Given the description of an element on the screen output the (x, y) to click on. 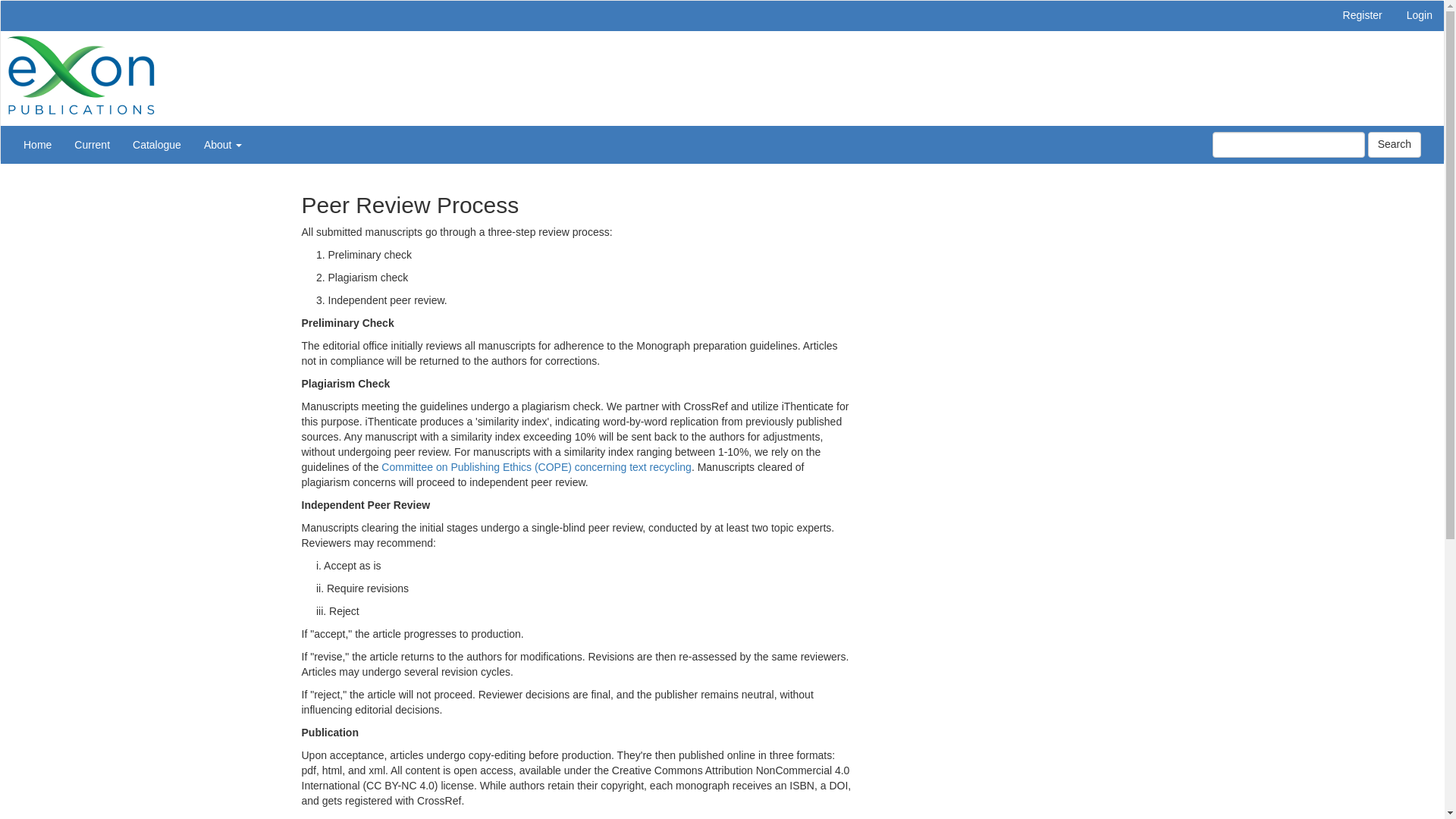
Catalogue (156, 144)
Register (1362, 15)
Home (36, 144)
Search (1394, 144)
Current (91, 144)
Login (1419, 15)
About (222, 144)
